Given the description of an element on the screen output the (x, y) to click on. 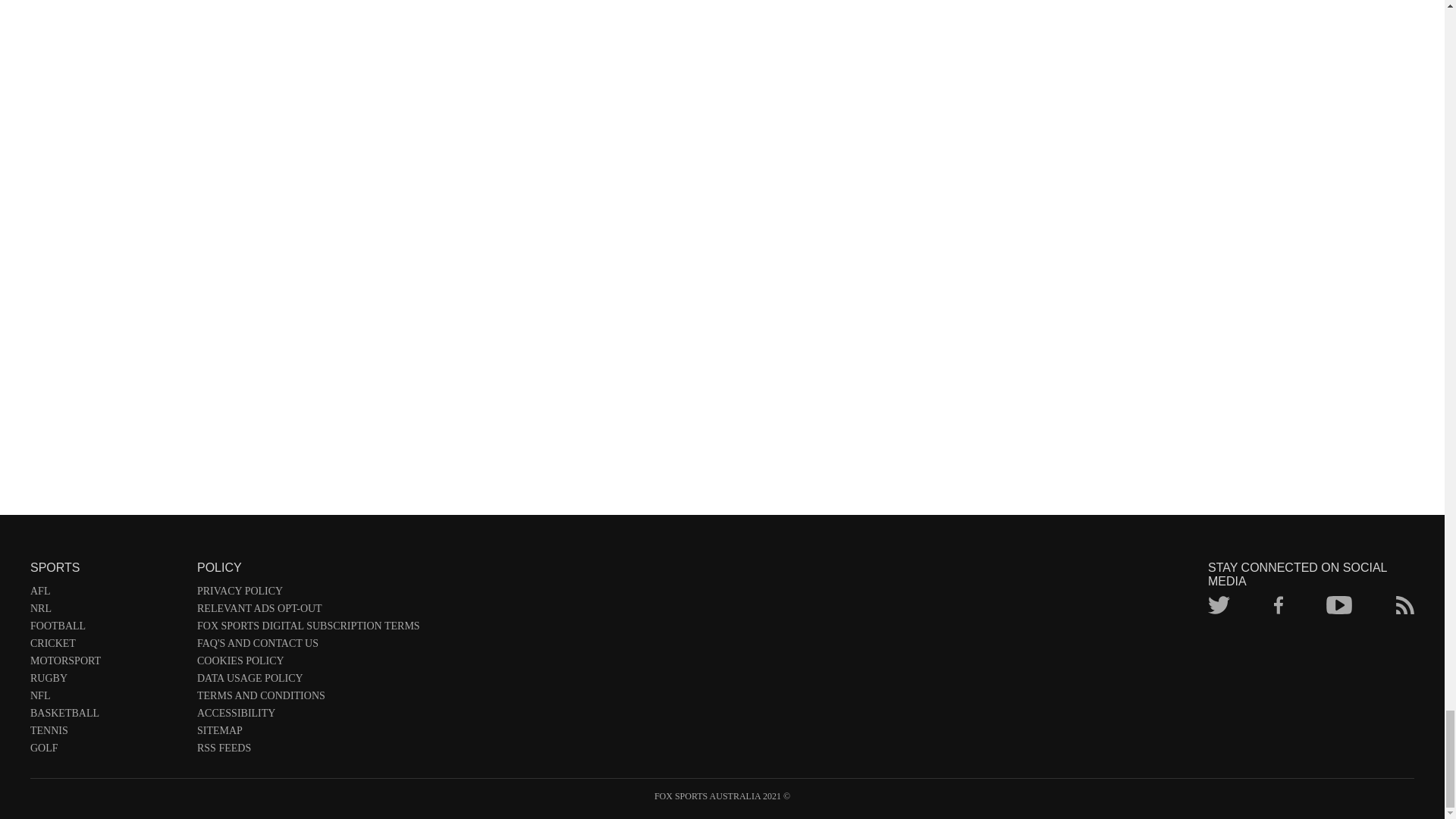
TENNIS (106, 733)
BASKETBALL (106, 715)
COOKIES POLICY (308, 663)
GOLF (106, 751)
AFL (106, 593)
FAQ'S AND CONTACT US (308, 646)
ACCESSIBILITY (308, 715)
RELEVANT ADS OPT-OUT (308, 610)
RUGBY (106, 681)
FOOTBALL (106, 628)
NRL (106, 610)
NFL (106, 698)
FOX SPORTS DIGITAL SUBSCRIPTION TERMS (308, 628)
SITEMAP (308, 733)
TERMS AND CONDITIONS (308, 698)
